Given the description of an element on the screen output the (x, y) to click on. 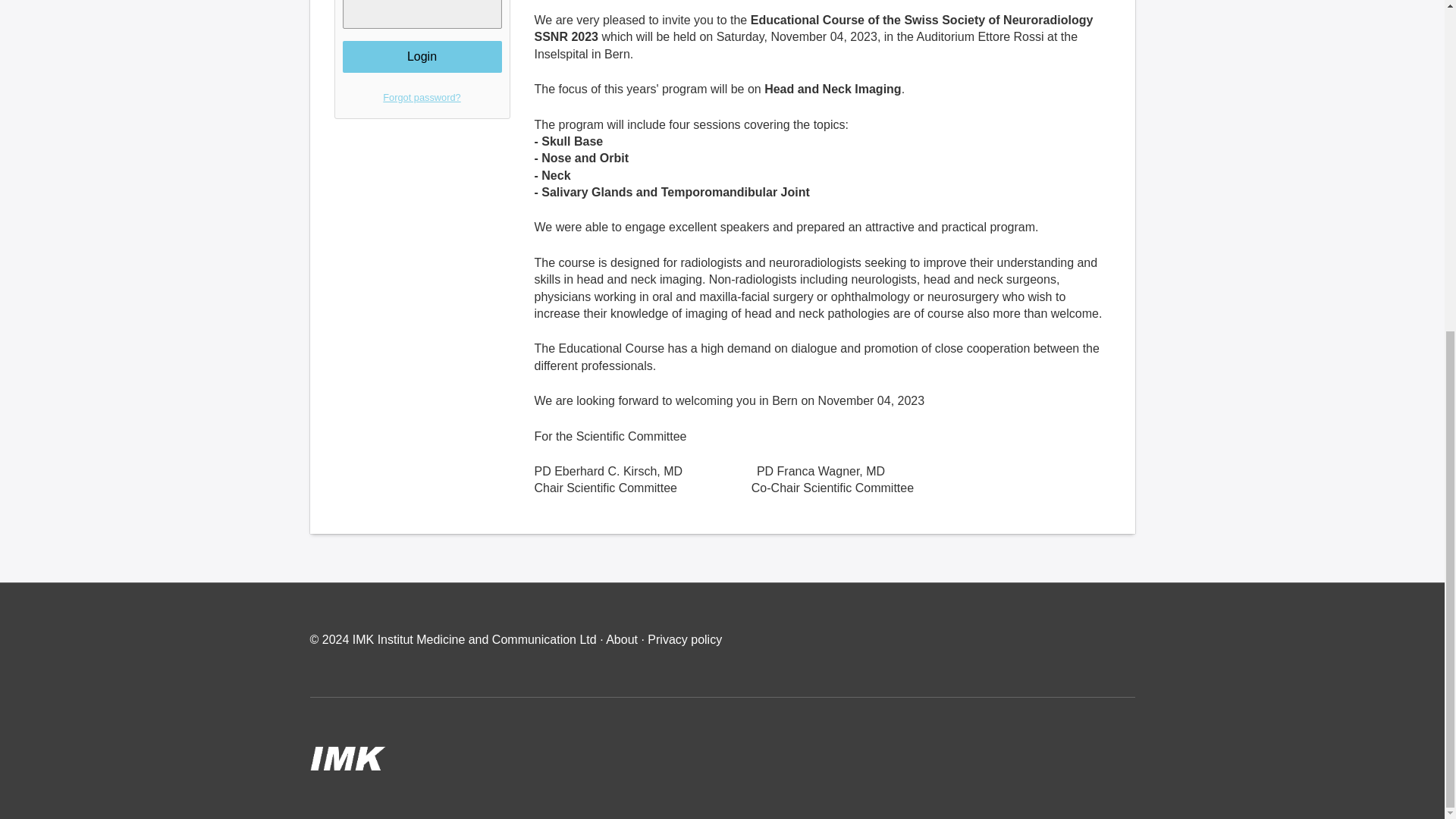
Login (422, 56)
About (622, 639)
Login (422, 56)
Forgot password? (422, 97)
Privacy policy (684, 639)
